Given the description of an element on the screen output the (x, y) to click on. 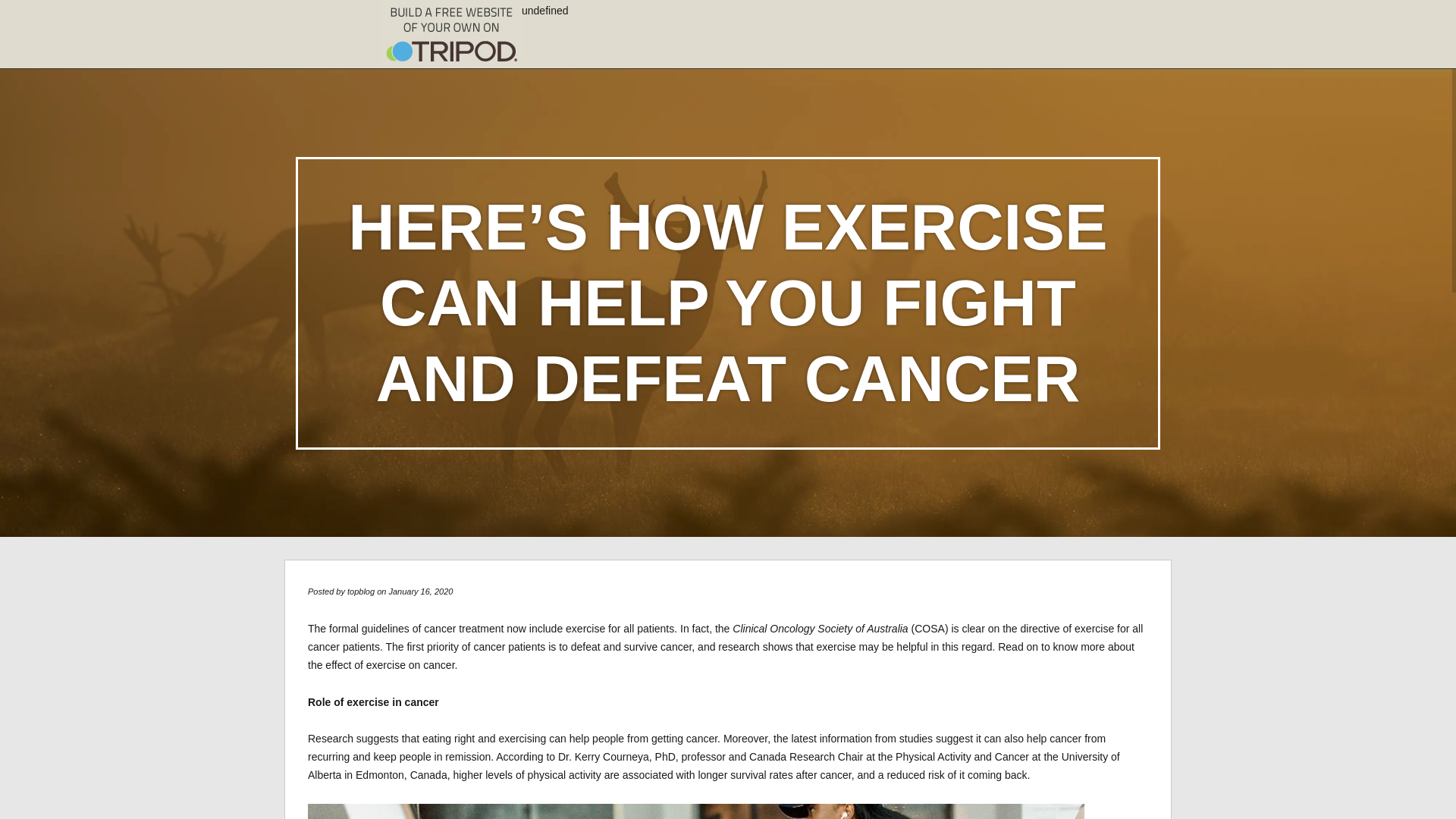
News (934, 52)
Auto (617, 52)
Tech (988, 52)
INTERNET (805, 52)
Internet (805, 52)
Business (1109, 52)
Home (410, 52)
EDUCATION (549, 52)
HEALTH (734, 52)
BUSINESS (1109, 52)
FINANCE (472, 52)
topblog (360, 591)
Finance (472, 52)
Education (549, 52)
LIVING (1042, 52)
